Given the description of an element on the screen output the (x, y) to click on. 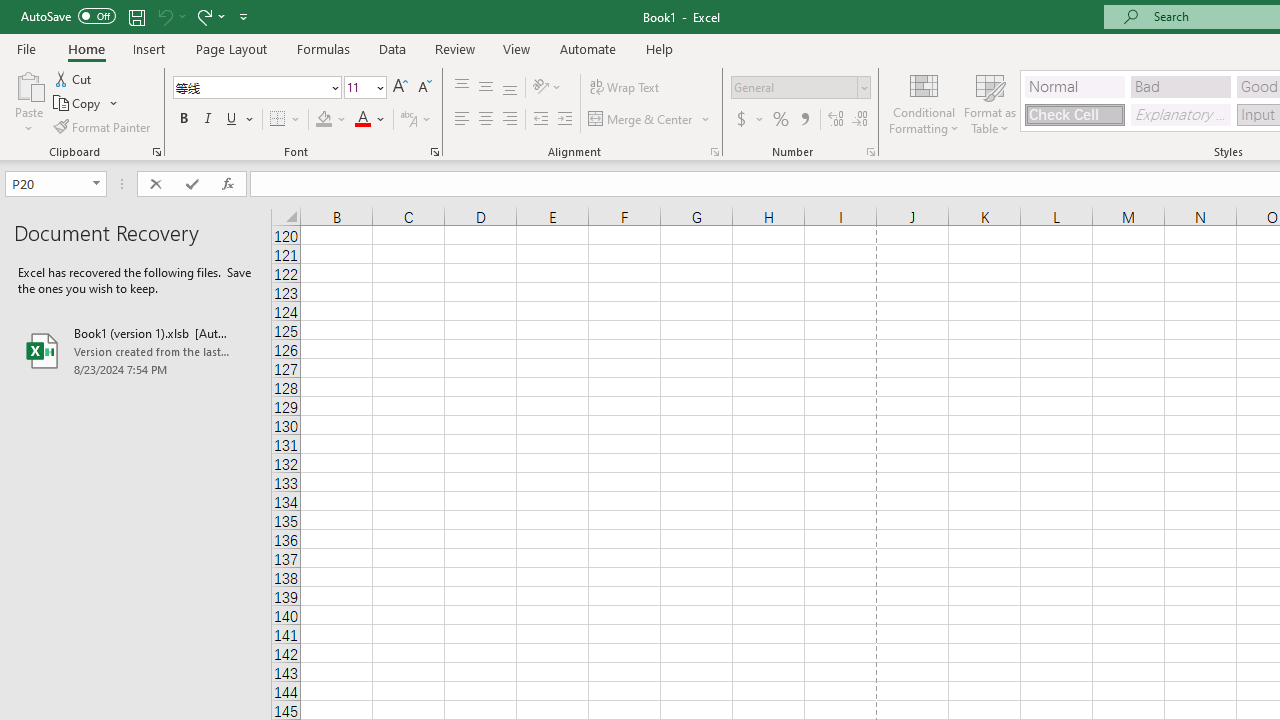
Office Clipboard... (156, 151)
Italic (207, 119)
Accounting Number Format (749, 119)
Number Format (794, 87)
Format Cell Number (870, 151)
Format Cell Font (434, 151)
Merge & Center (649, 119)
Paste (28, 84)
Increase Font Size (399, 87)
